Given the description of an element on the screen output the (x, y) to click on. 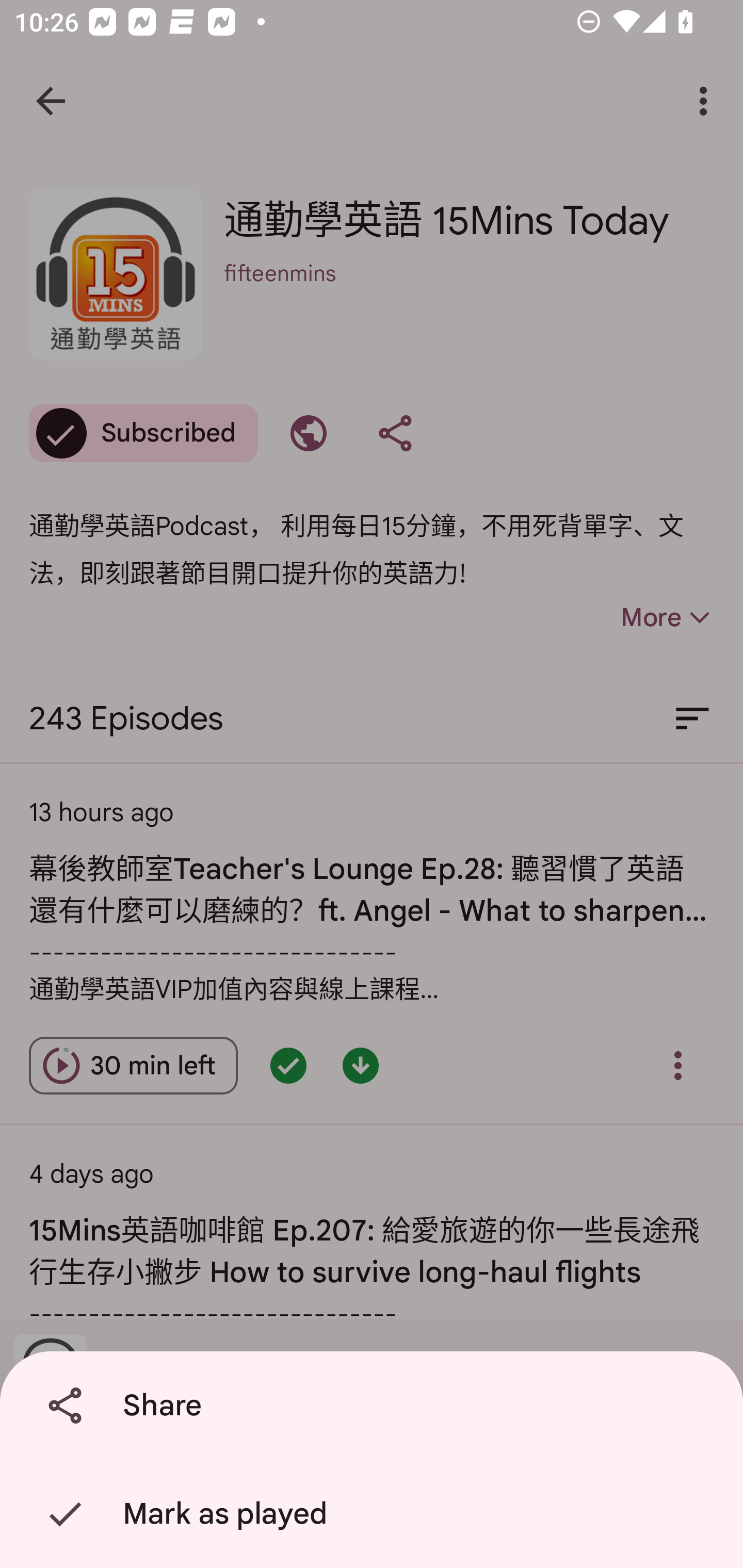
Share (375, 1405)
Mark as played (375, 1513)
